Given the description of an element on the screen output the (x, y) to click on. 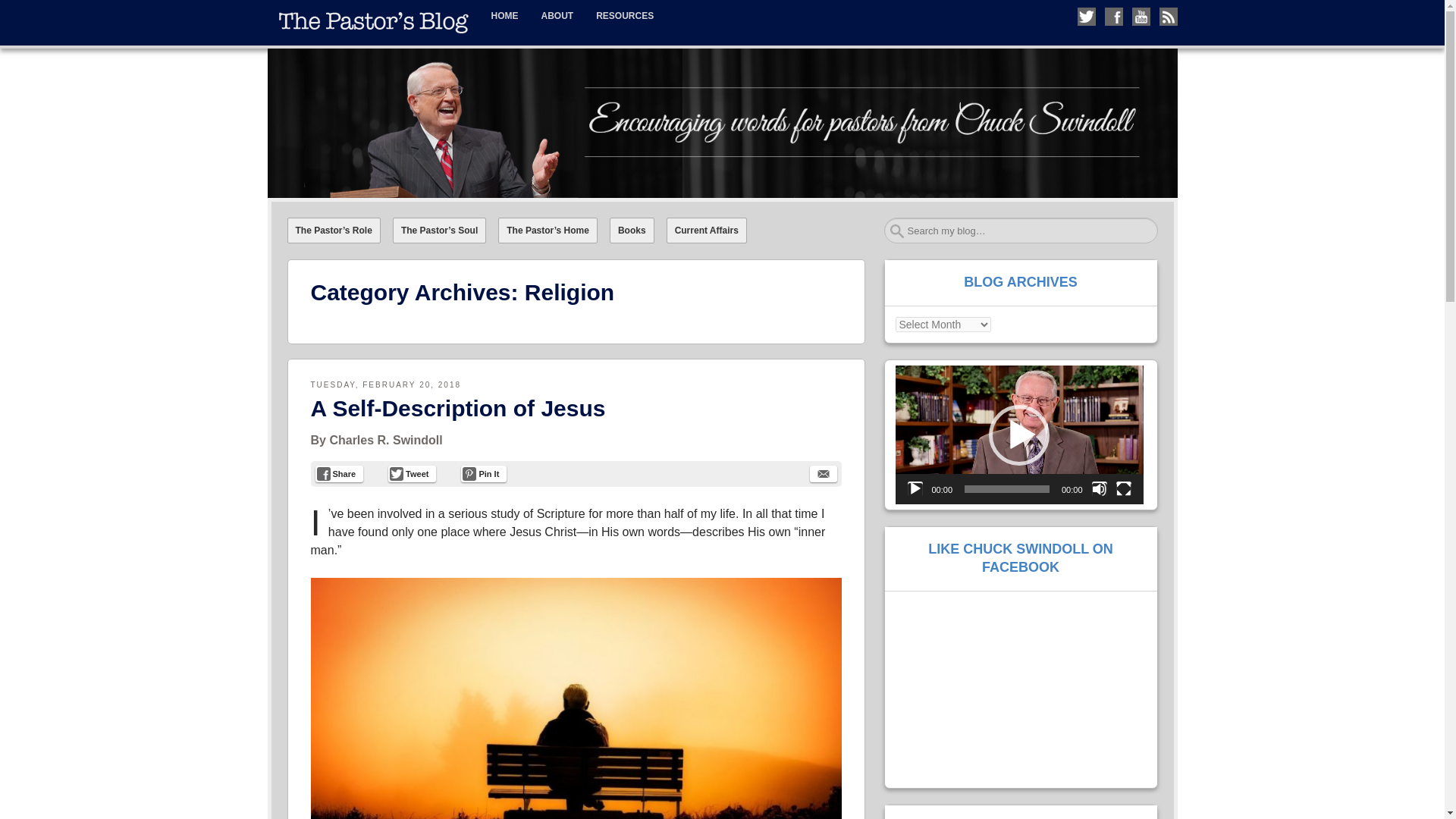
Share (339, 474)
A Self-Description of Jesus (458, 407)
Skip to content (299, 10)
Pin It (483, 474)
The Pastor's Blog (368, 62)
HOME (504, 15)
Share on Facebook (339, 474)
Follow me on Twitter (1085, 16)
ABOUT (557, 15)
I (315, 523)
Pin it. (483, 474)
email (823, 474)
Tweet this Post (411, 474)
RESOURCES (625, 15)
